Given the description of an element on the screen output the (x, y) to click on. 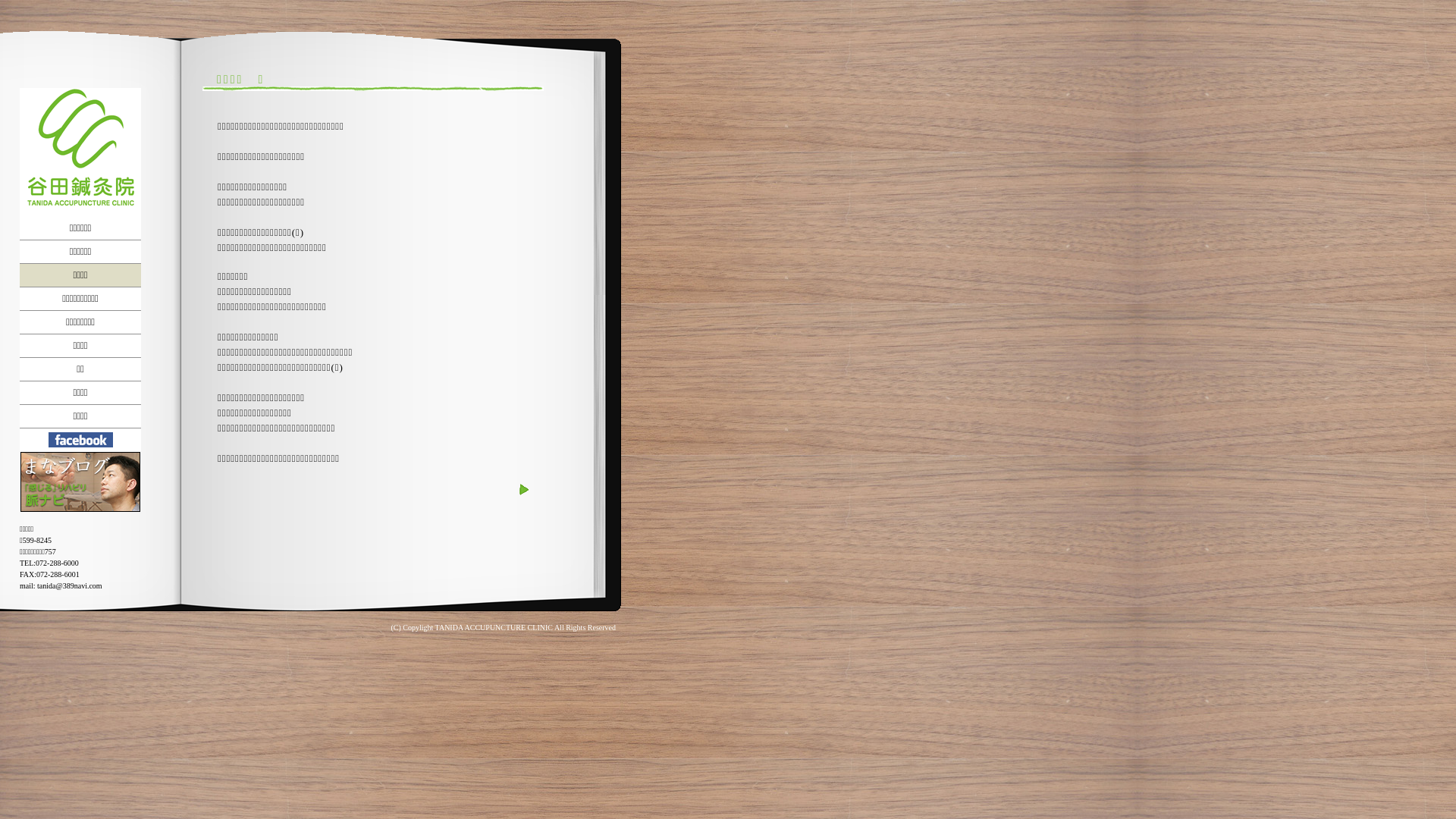
tanida@389navi.com Element type: text (69, 585)
